Given the description of an element on the screen output the (x, y) to click on. 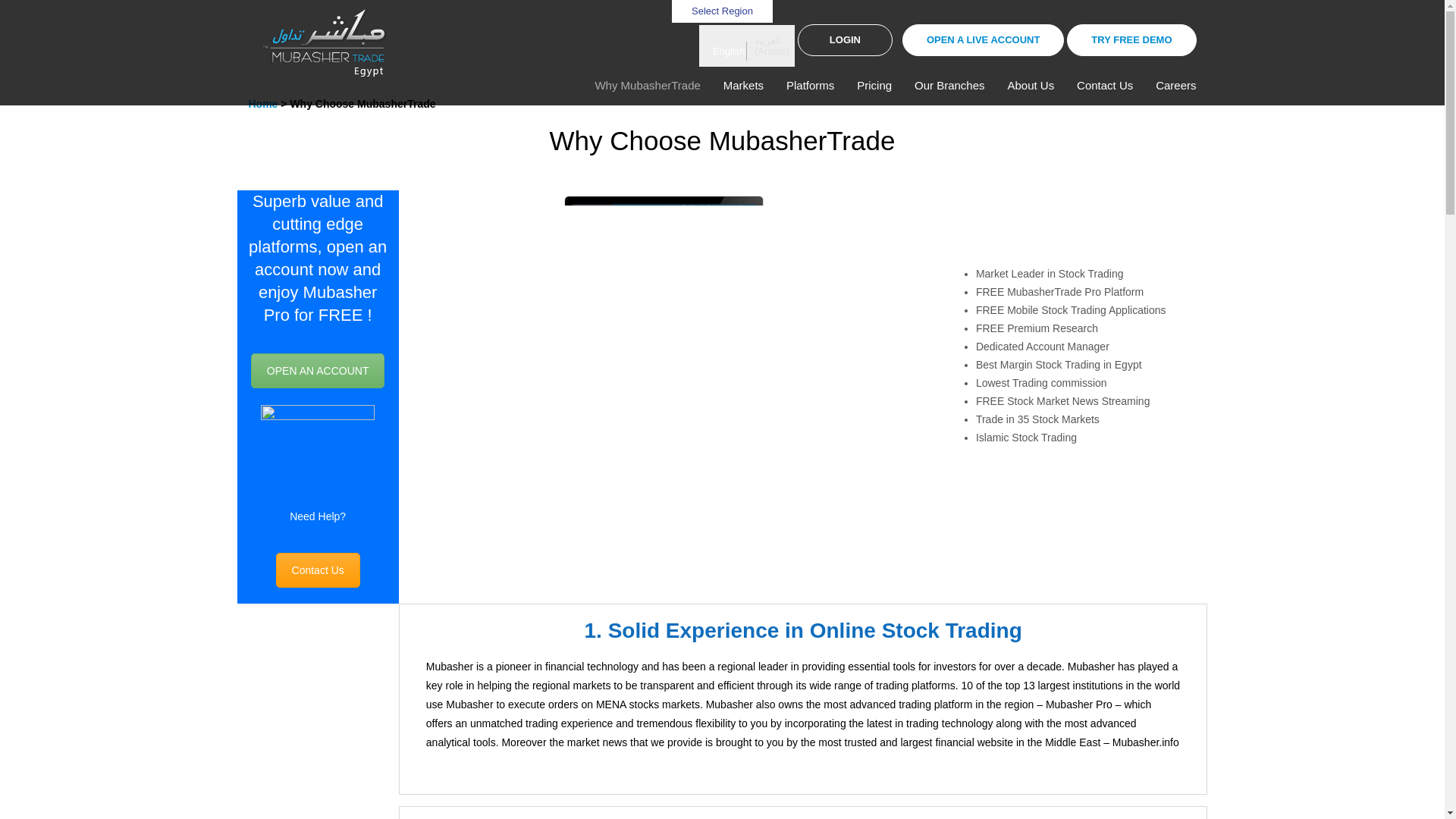
Platforms (810, 85)
Mubasher Trade (323, 42)
OPEN A LIVE ACCOUNT (983, 40)
Contact Us (317, 570)
Go to Mubasher Trade. (263, 103)
Pricing (874, 85)
TRY FREE DEMO (1131, 40)
Markets (742, 85)
Select Region (722, 11)
OPEN AN ACCOUNT (317, 370)
Home (263, 103)
Our Branches (949, 85)
Contact Us (1104, 85)
English (724, 50)
Careers (1175, 85)
